Given the description of an element on the screen output the (x, y) to click on. 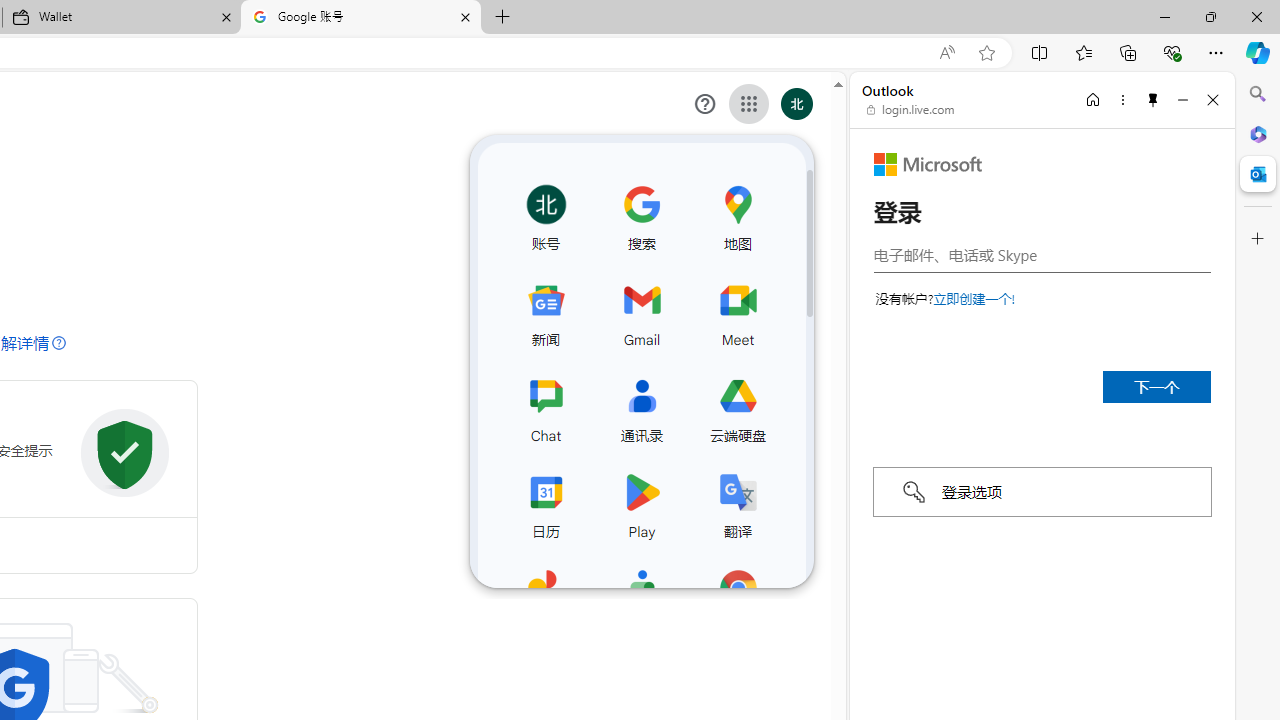
Class: gb_E (749, 103)
